Given the description of an element on the screen output the (x, y) to click on. 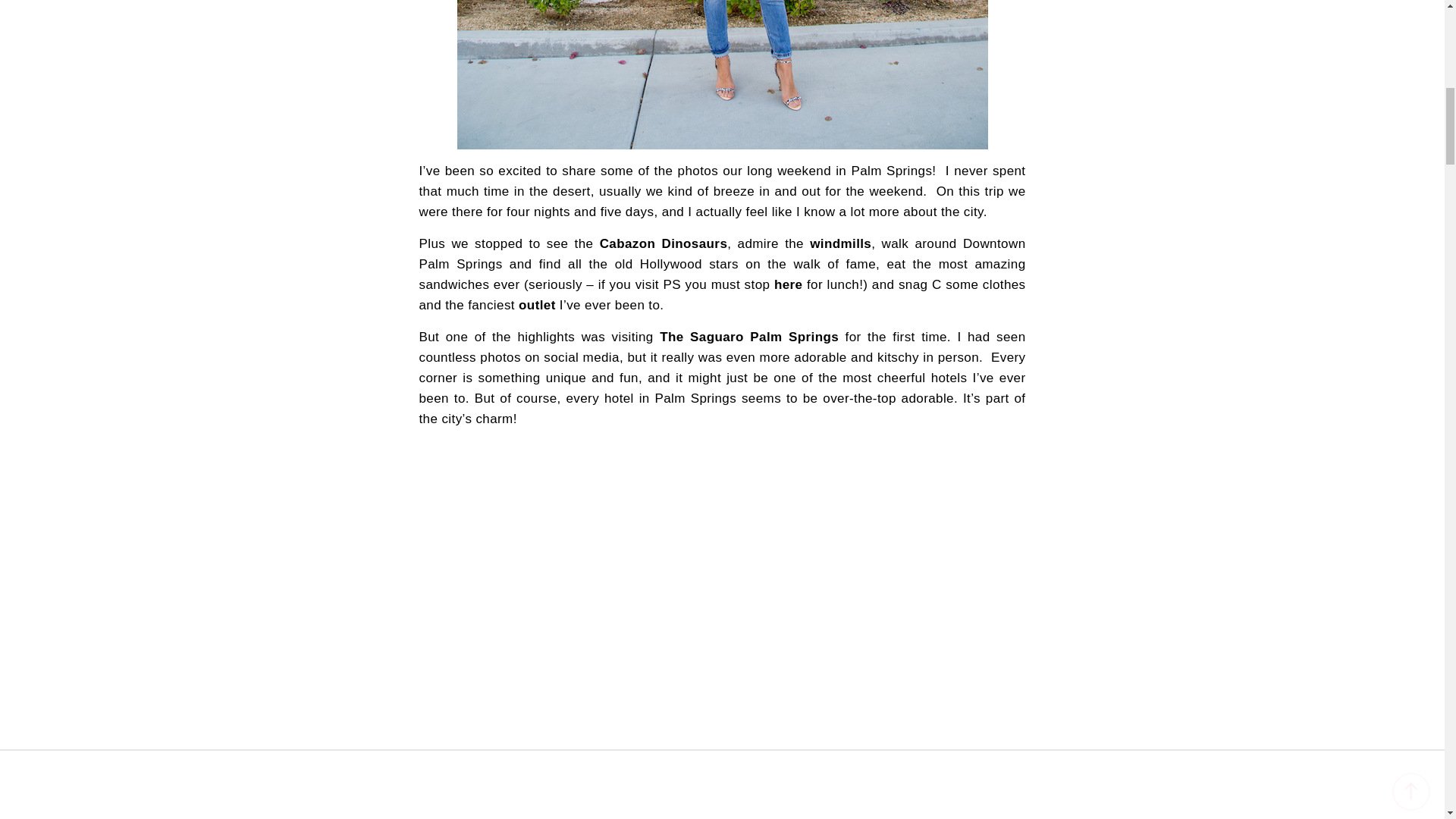
The Saguaro Palm Springs (748, 336)
windmills (839, 243)
Cabazon Dinosaurs (663, 243)
outlet (537, 305)
here (788, 284)
